Given the description of an element on the screen output the (x, y) to click on. 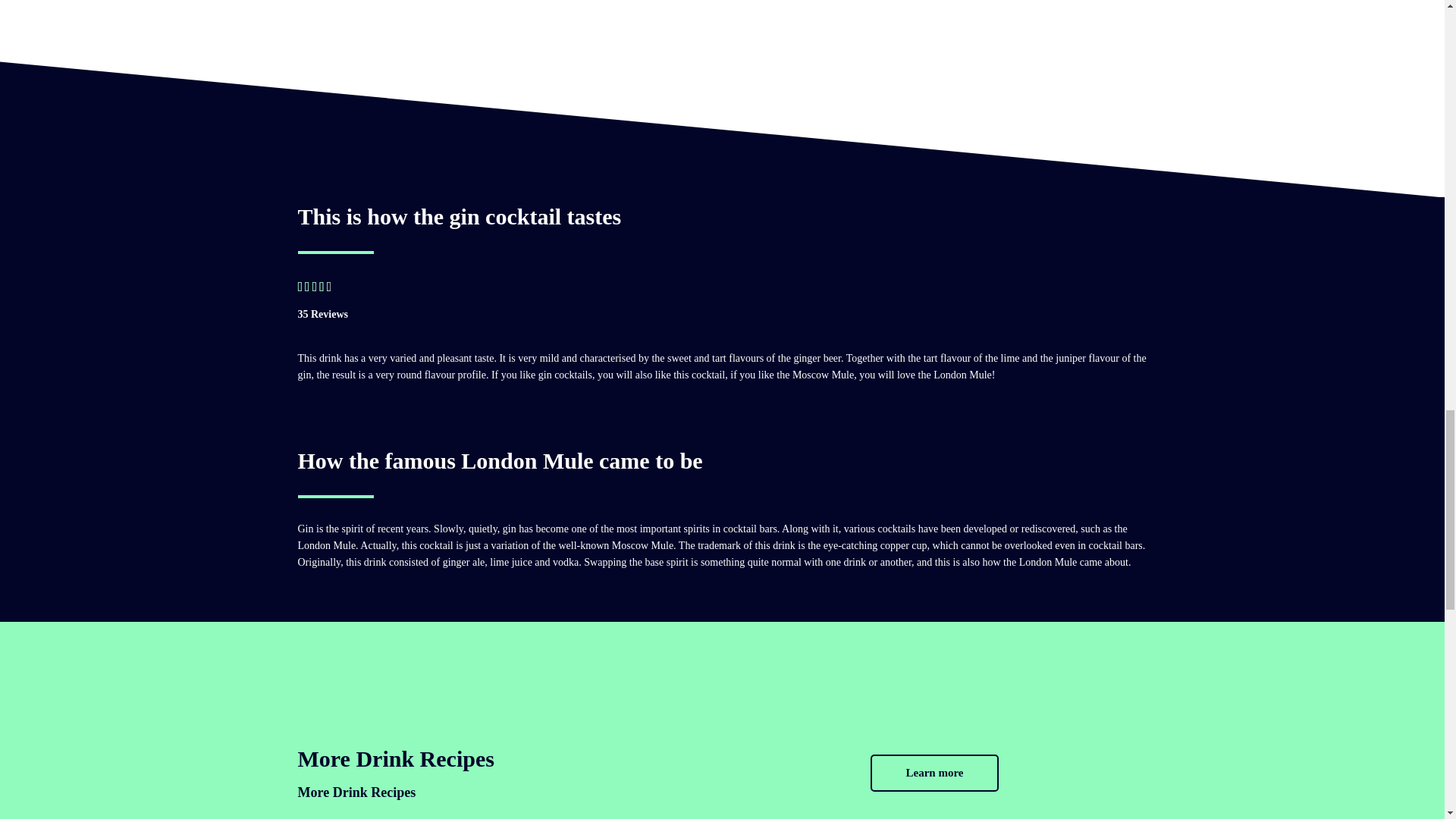
Learn more (934, 772)
